Given the description of an element on the screen output the (x, y) to click on. 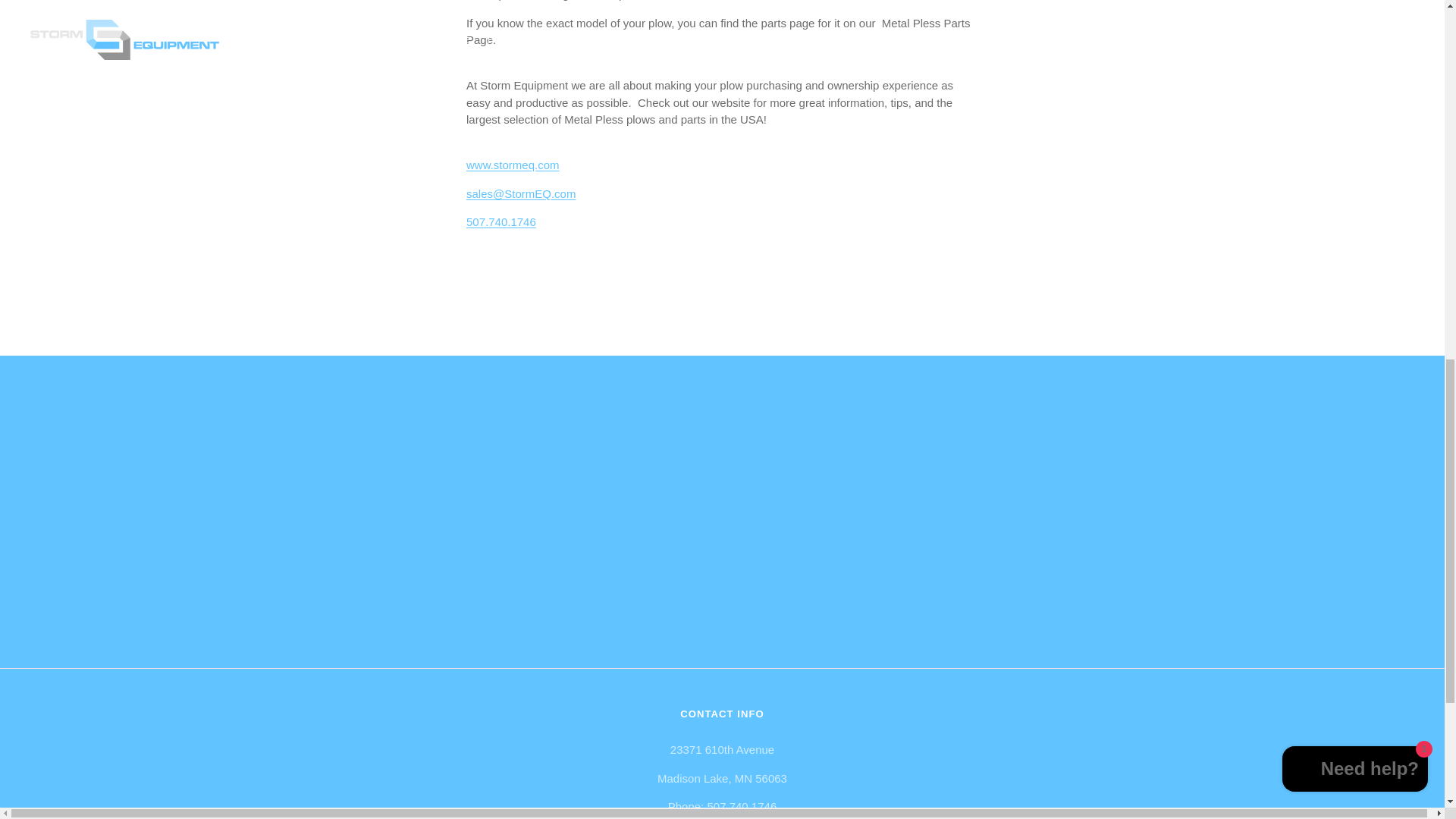
Storm Equipment Phone Number (741, 806)
Metal Pless Parts Page (718, 31)
Storm Equipment email (520, 193)
Storm Equipment Phone Number (500, 221)
